Given the description of an element on the screen output the (x, y) to click on. 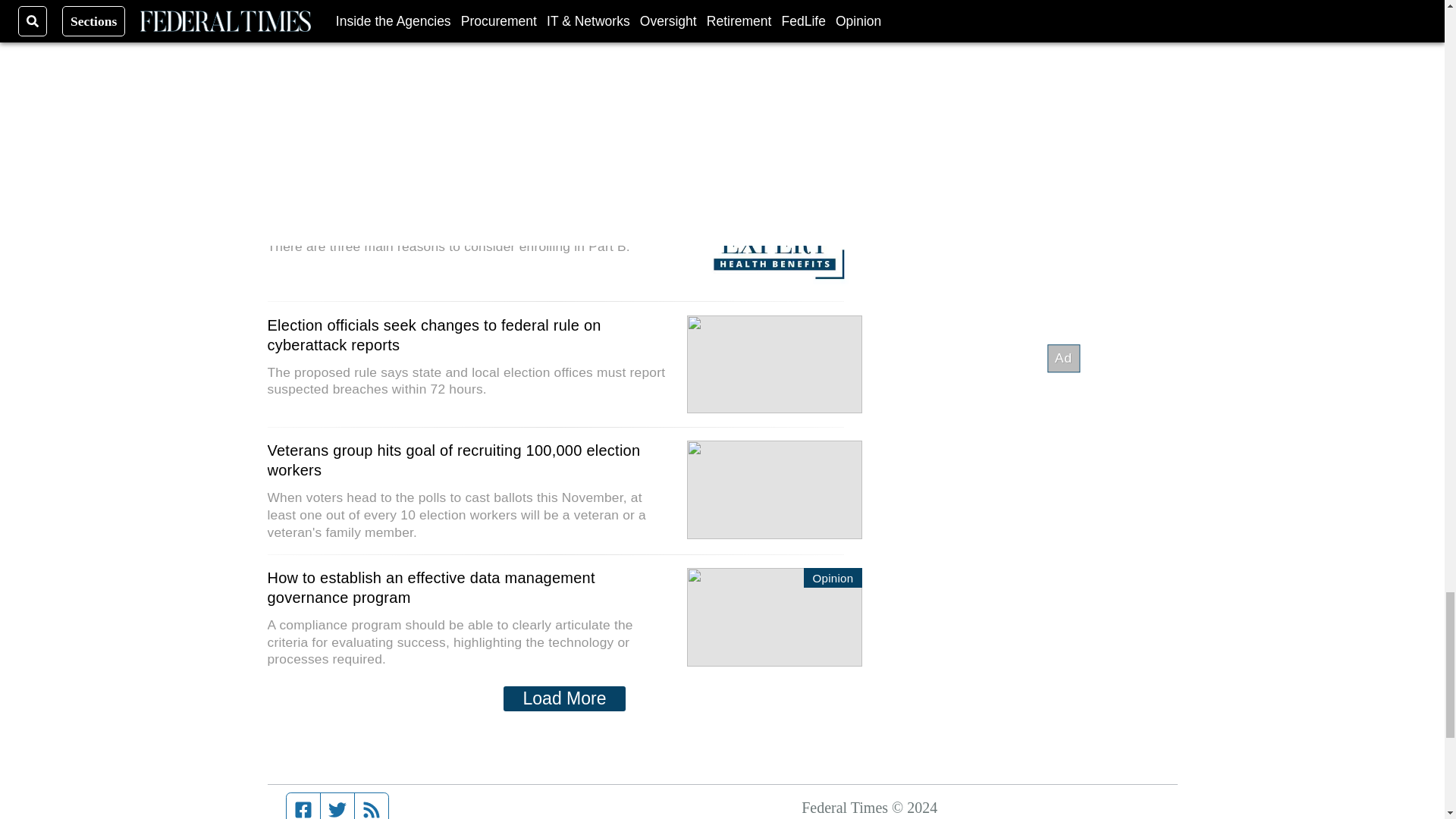
RSS feed (371, 806)
Twitter feed (336, 806)
Facebook page (303, 806)
